Given the description of an element on the screen output the (x, y) to click on. 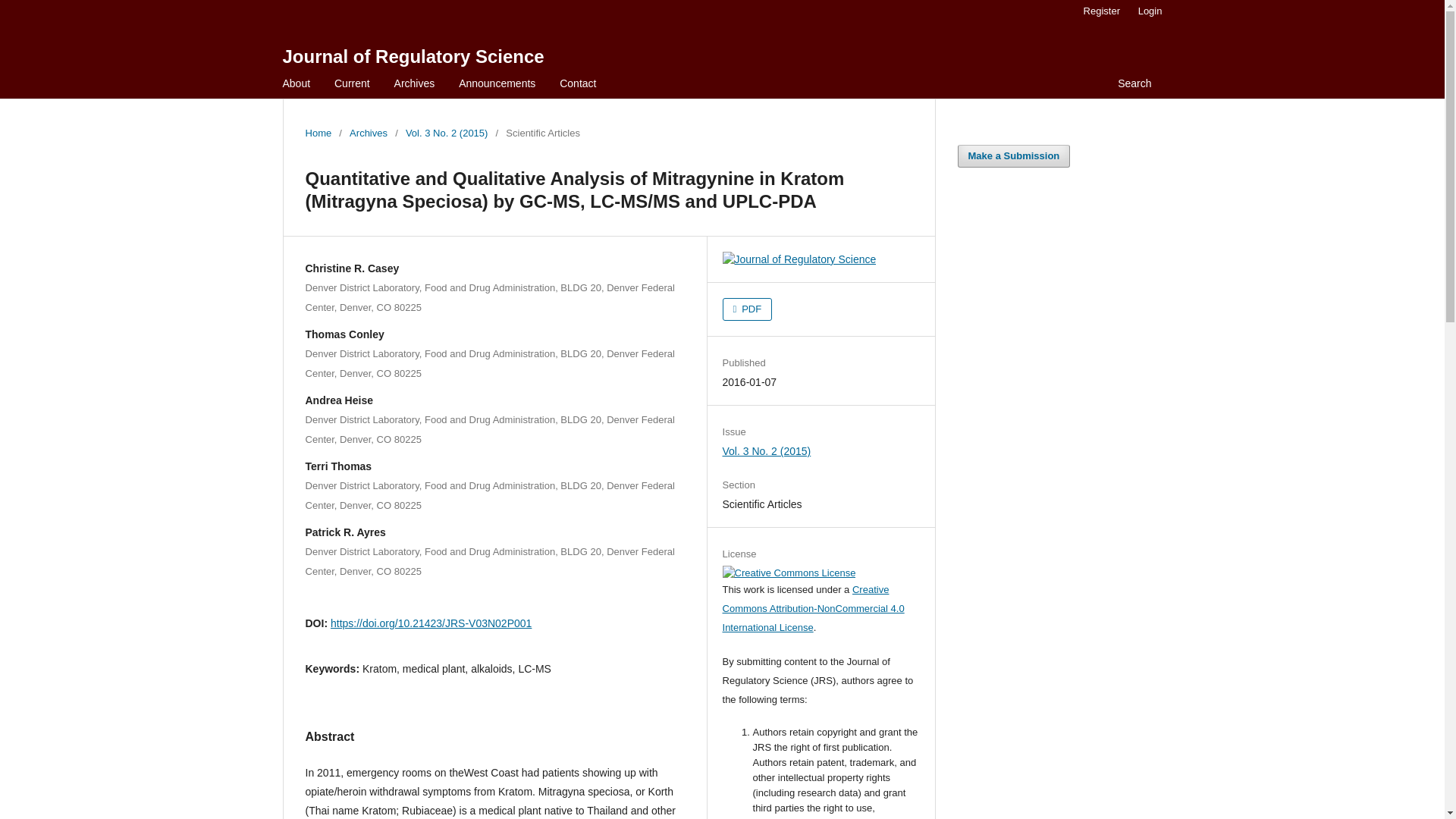
About (296, 85)
Register (1100, 11)
Archives (414, 85)
Current (352, 85)
Announcements (496, 85)
Journal of Regulatory Science (412, 56)
Search (1134, 85)
Archives (368, 133)
Contact (577, 85)
